Given the description of an element on the screen output the (x, y) to click on. 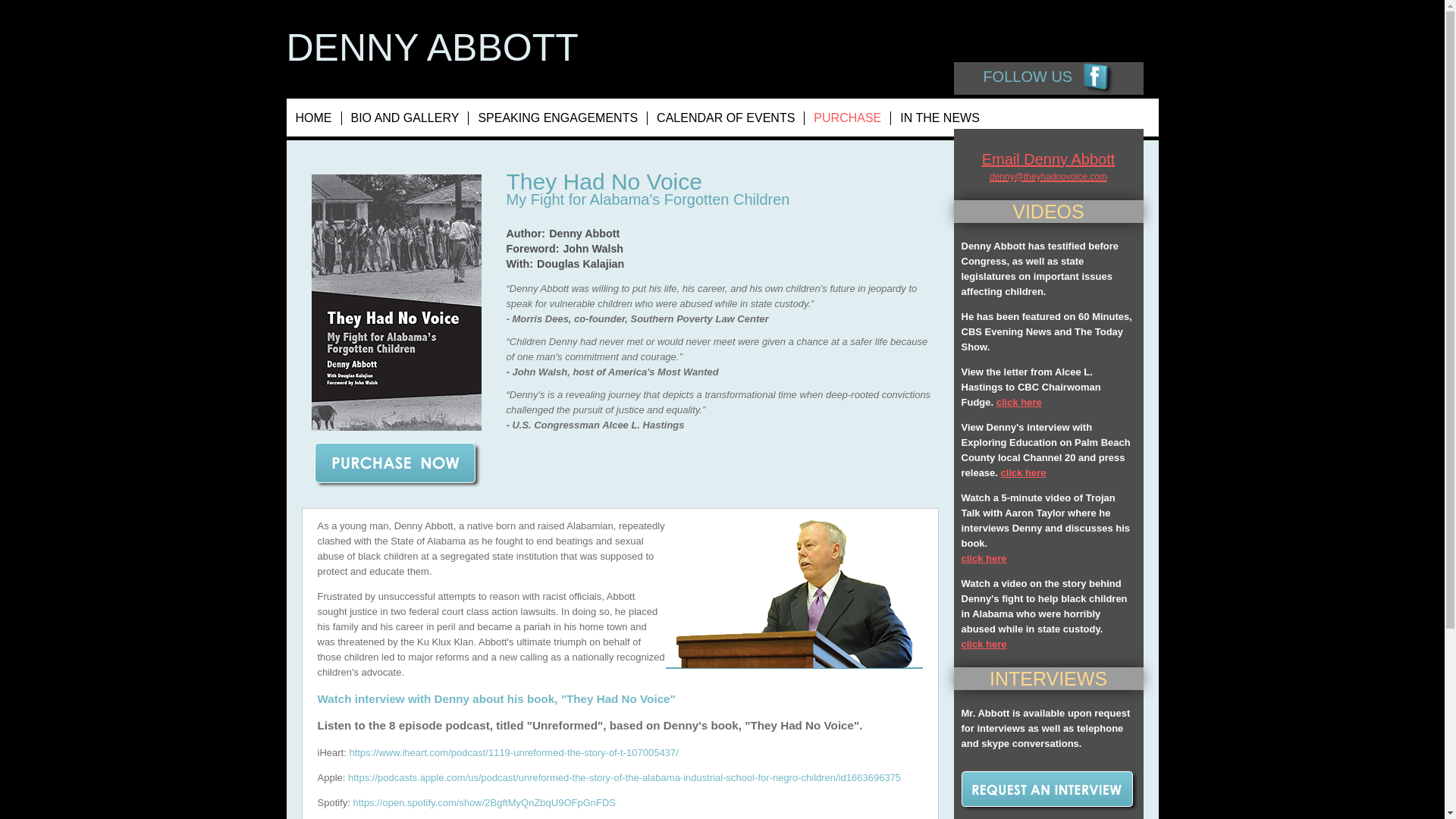
IN THE NEWS (939, 118)
click here (983, 557)
CALENDAR OF EVENTS (726, 118)
Request An Interview (1046, 791)
BIO AND GALLERY (404, 118)
Facebook (1098, 78)
SPEAKING ENGAGEMENTS (557, 118)
HOME (314, 118)
PURCHASE (848, 118)
Purchase Now (395, 465)
click here (1018, 401)
click here (1023, 472)
click here (983, 644)
